Given the description of an element on the screen output the (x, y) to click on. 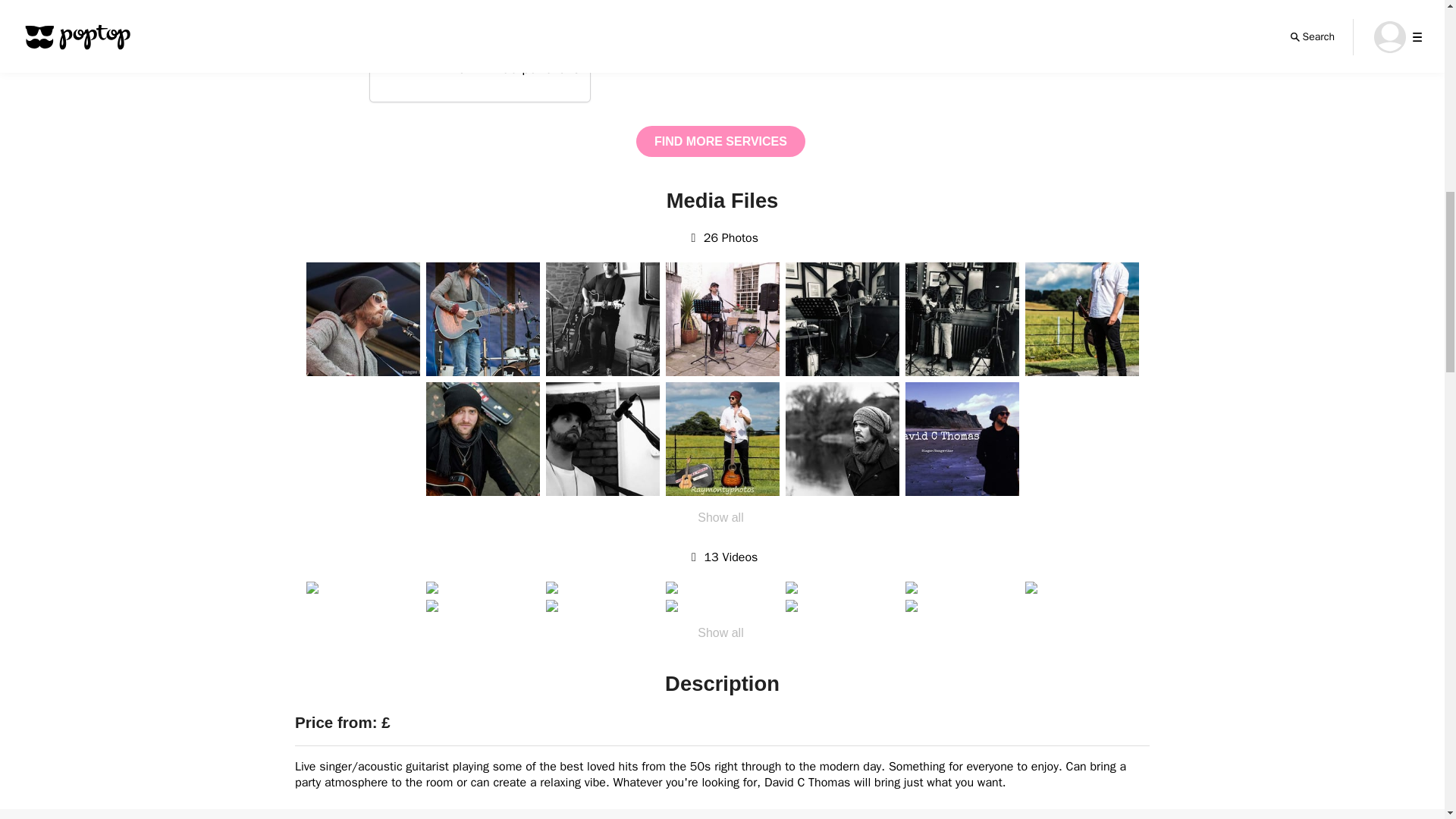
Show all (720, 633)
Show all (720, 517)
FIND MORE SERVICES (720, 141)
